Given the description of an element on the screen output the (x, y) to click on. 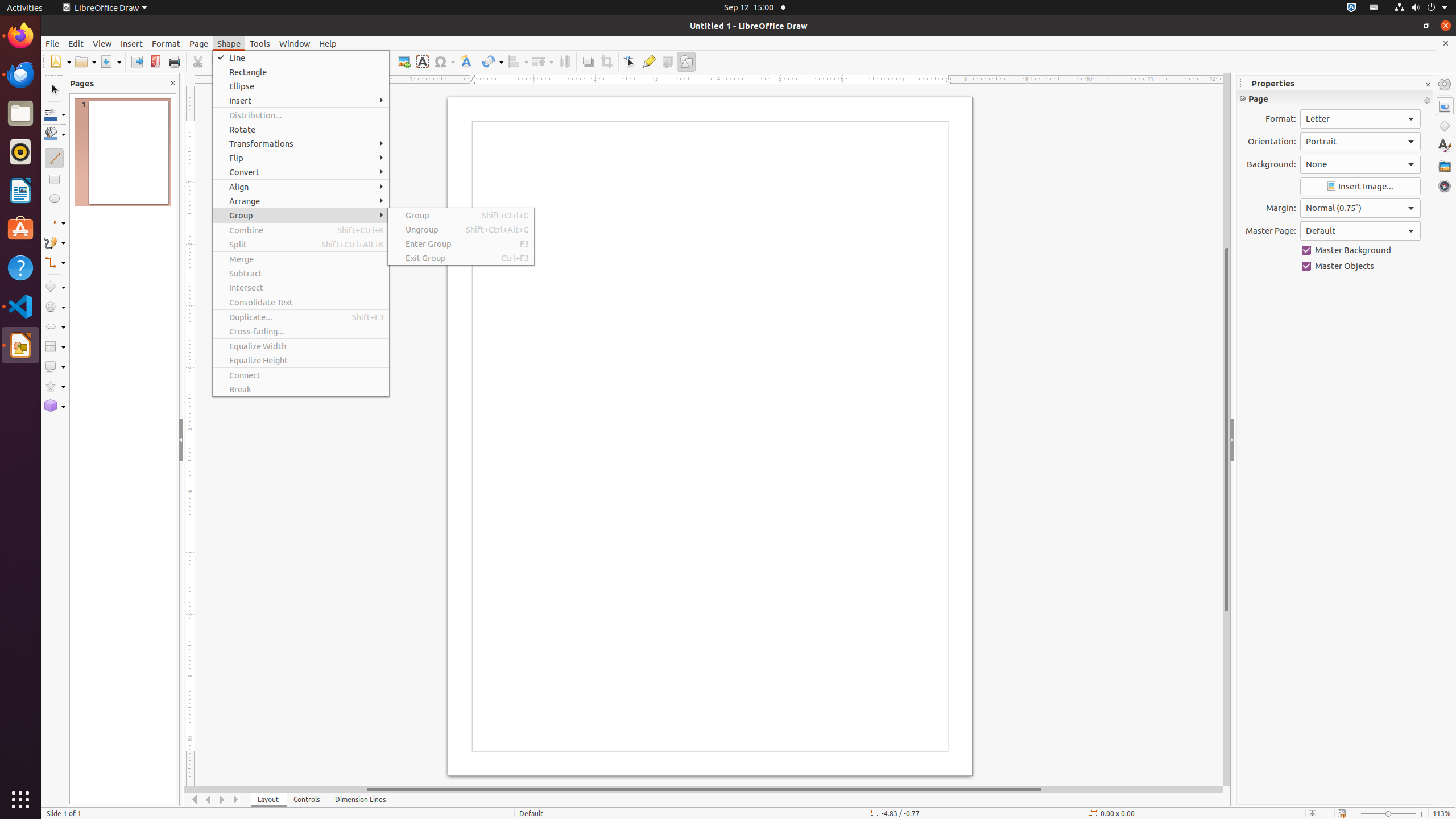
Horizontal Ruler Element type: ruler (703, 79)
Tools Element type: menu (259, 43)
:1.21/StatusNotifierItem Element type: menu (1373, 7)
Orientation: Element type: combo-box (1360, 141)
Fontwork Style Element type: toggle-button (465, 61)
